Given the description of an element on the screen output the (x, y) to click on. 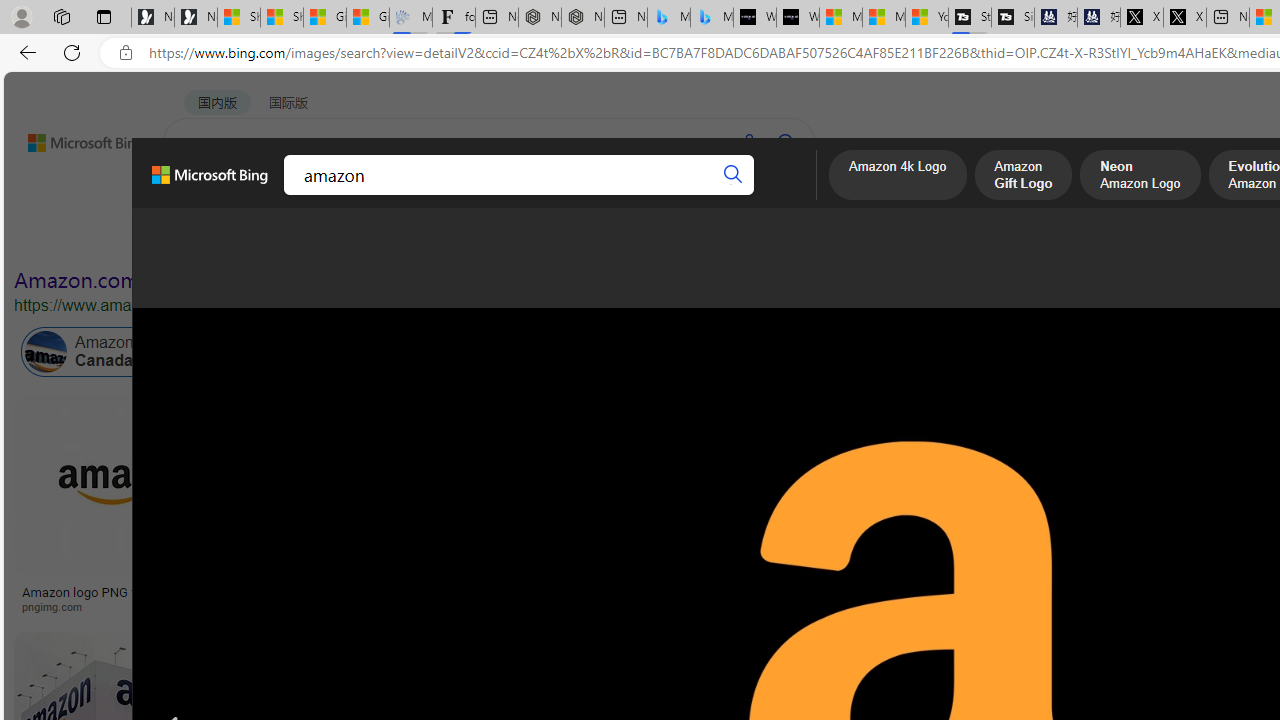
Search button (732, 174)
VIDEOS (458, 195)
X (1184, 17)
ACADEMIC (548, 195)
Type (373, 237)
Microsoft Start Sports (840, 17)
Amazon Cloud (564, 351)
Date (591, 237)
Layout (443, 237)
Alexa Smart Home Devices (1087, 584)
Gilma and Hector both pose tropical trouble for Hawaii (367, 17)
